Given the description of an element on the screen output the (x, y) to click on. 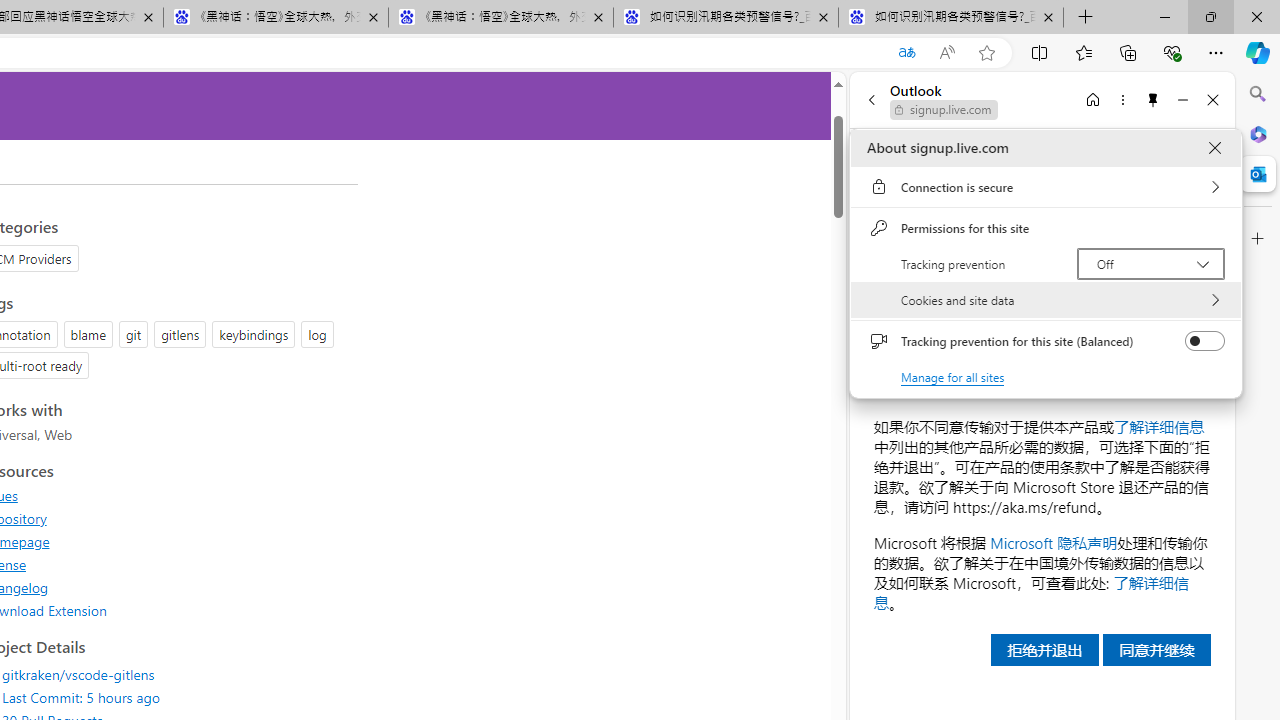
About signup.live.com (1214, 147)
Manage for all sites (952, 376)
Cookies and site data (1046, 300)
Tracking prevention for this site (Balanced) (1204, 341)
Connection is secure (1046, 187)
Permissions for this site (1046, 228)
Tracking prevention Off (1150, 263)
